Given the description of an element on the screen output the (x, y) to click on. 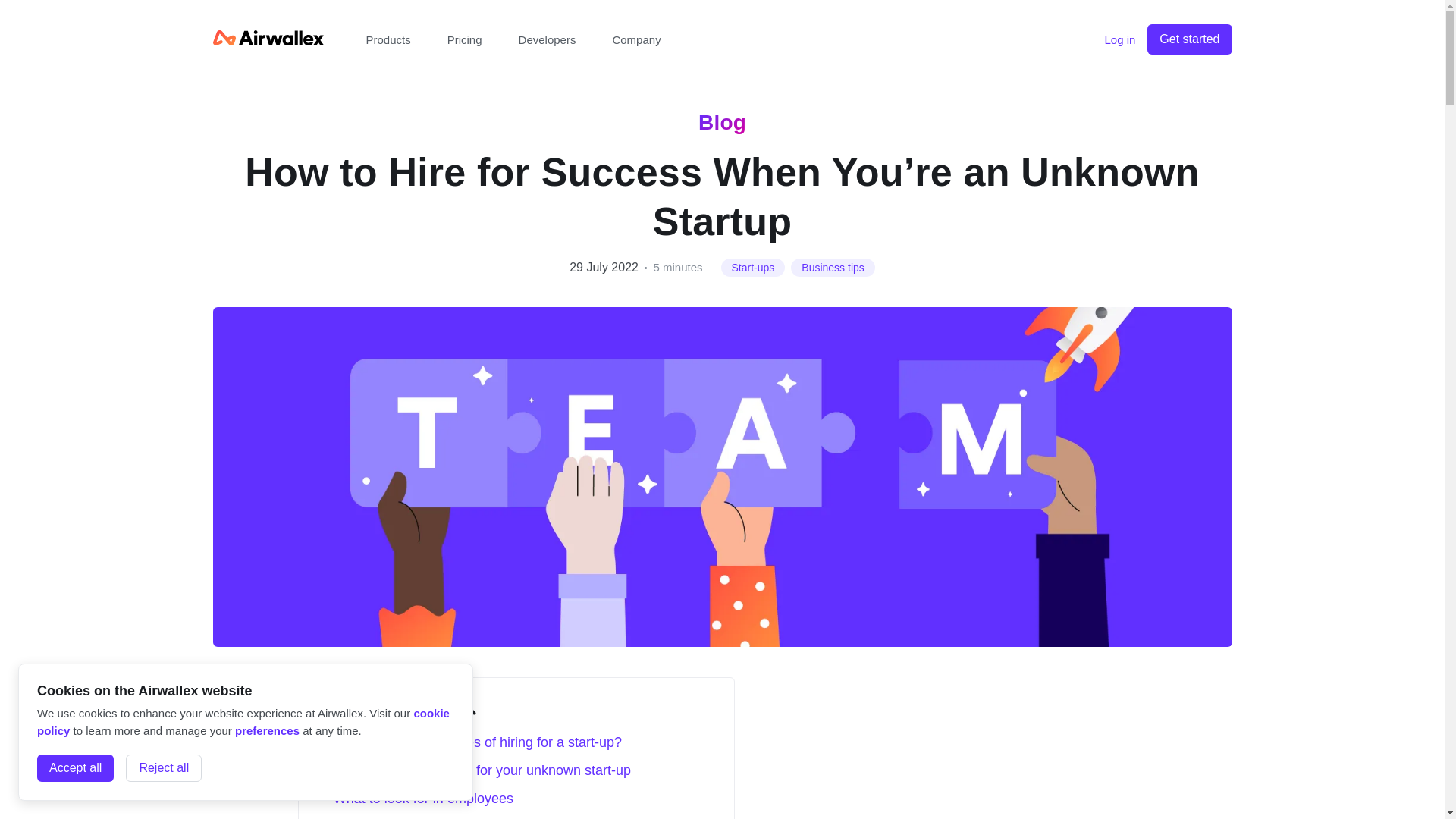
Products (387, 39)
Developers (547, 39)
Company (636, 39)
